Given the description of an element on the screen output the (x, y) to click on. 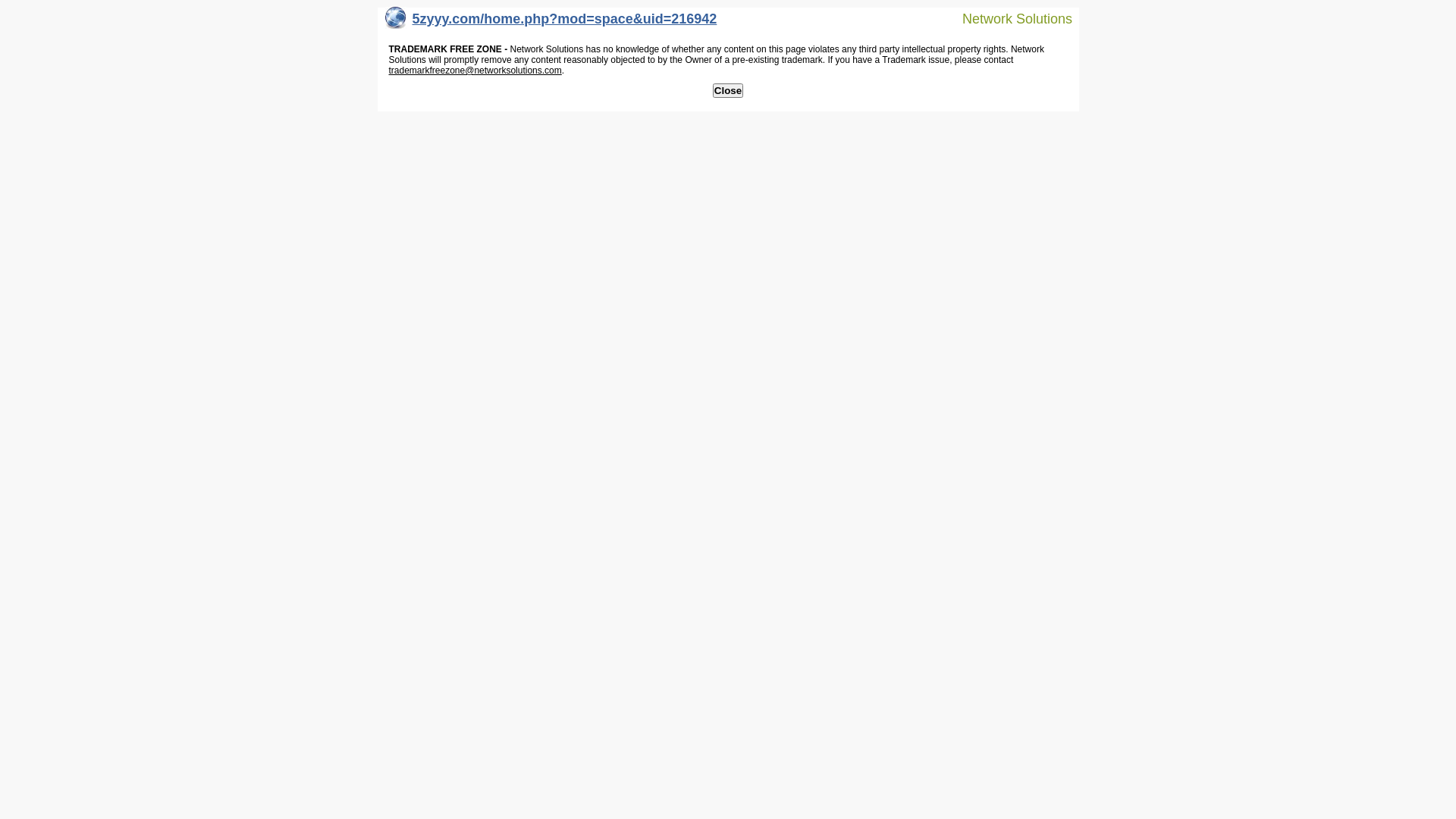
trademarkfreezone@networksolutions.com Element type: text (474, 70)
Network Solutions Element type: text (1007, 17)
Close Element type: text (727, 90)
5zyyy.com/home.php?mod=space&uid=216942 Element type: text (551, 21)
